Given the description of an element on the screen output the (x, y) to click on. 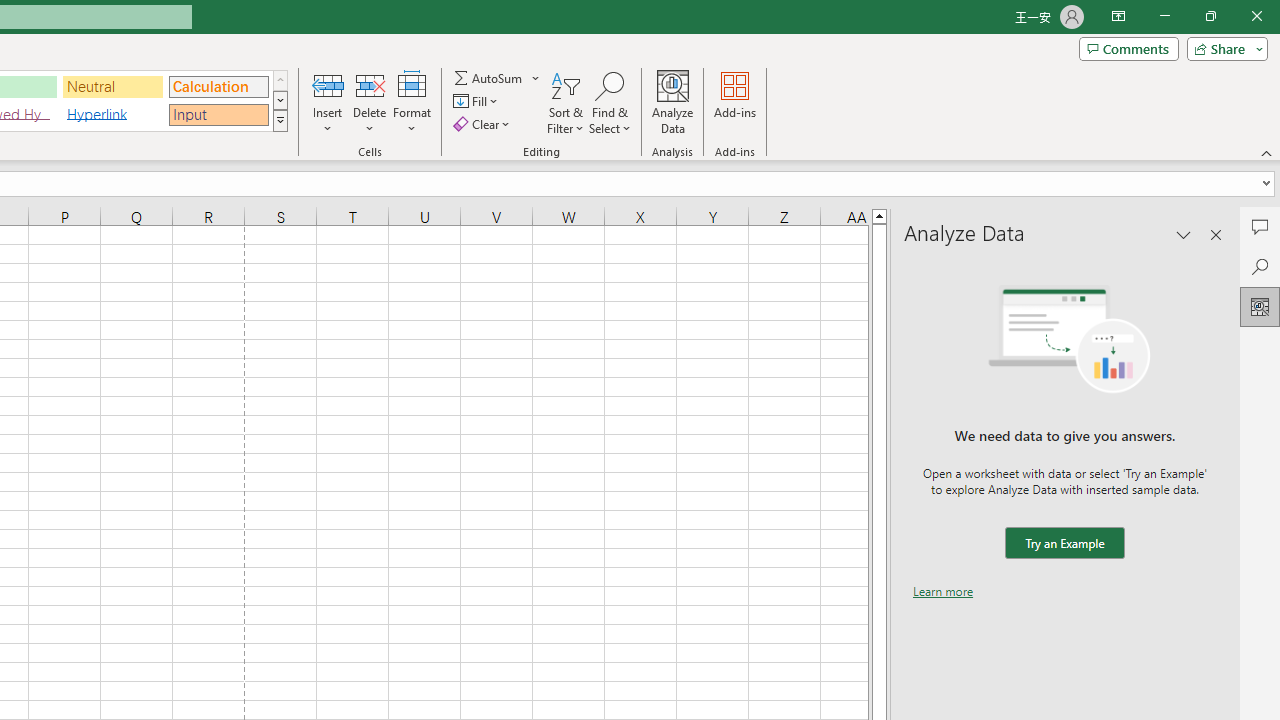
Insert Cells (328, 84)
Input (218, 114)
We need data to give you answers. Try an Example (1064, 543)
